Given the description of an element on the screen output the (x, y) to click on. 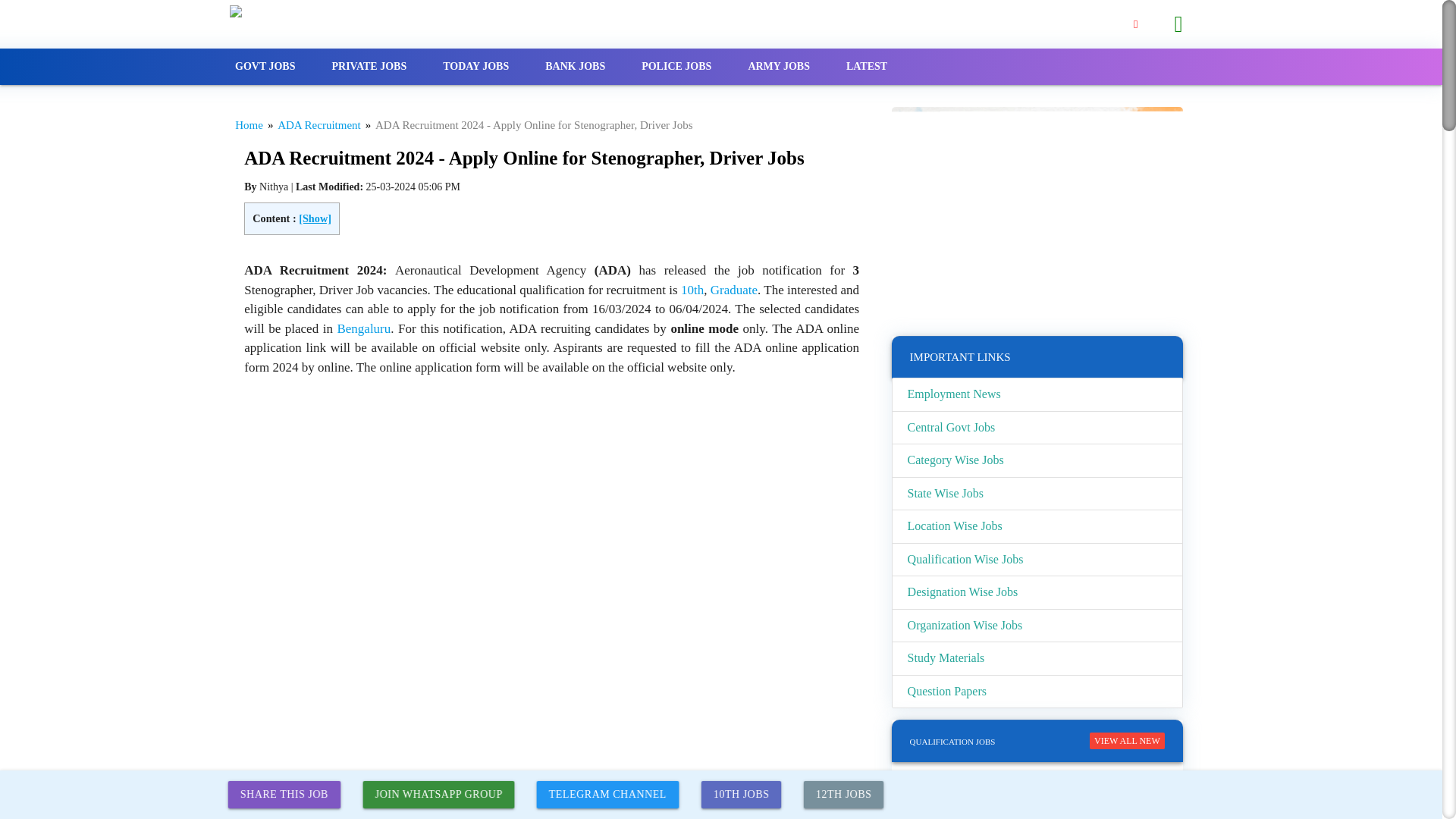
Home (248, 124)
TODAY JOBS (476, 66)
Bengaluru (363, 328)
ADA Recruitment (319, 124)
PRIVATE JOBS (369, 66)
10th (692, 289)
POLICE JOBS (676, 66)
IMPORTANT LINKS (960, 357)
GOVT JOBS (265, 66)
Central Govt Jobs (1037, 428)
